Given the description of an element on the screen output the (x, y) to click on. 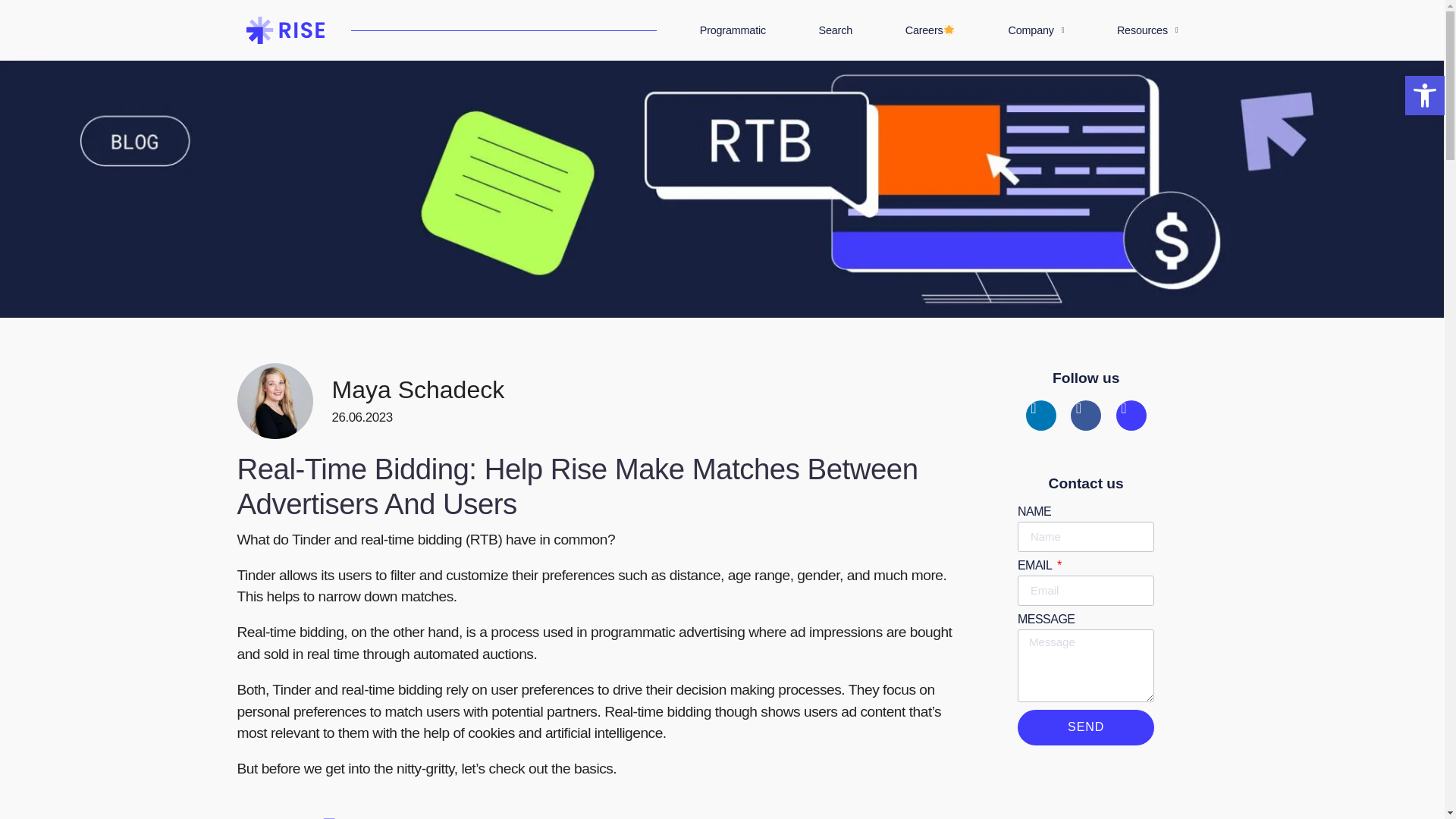
Search (835, 30)
Company (1035, 30)
Programmatic (732, 30)
Careers (930, 30)
Accessibility Tools (1424, 95)
Resources (1147, 30)
